Given the description of an element on the screen output the (x, y) to click on. 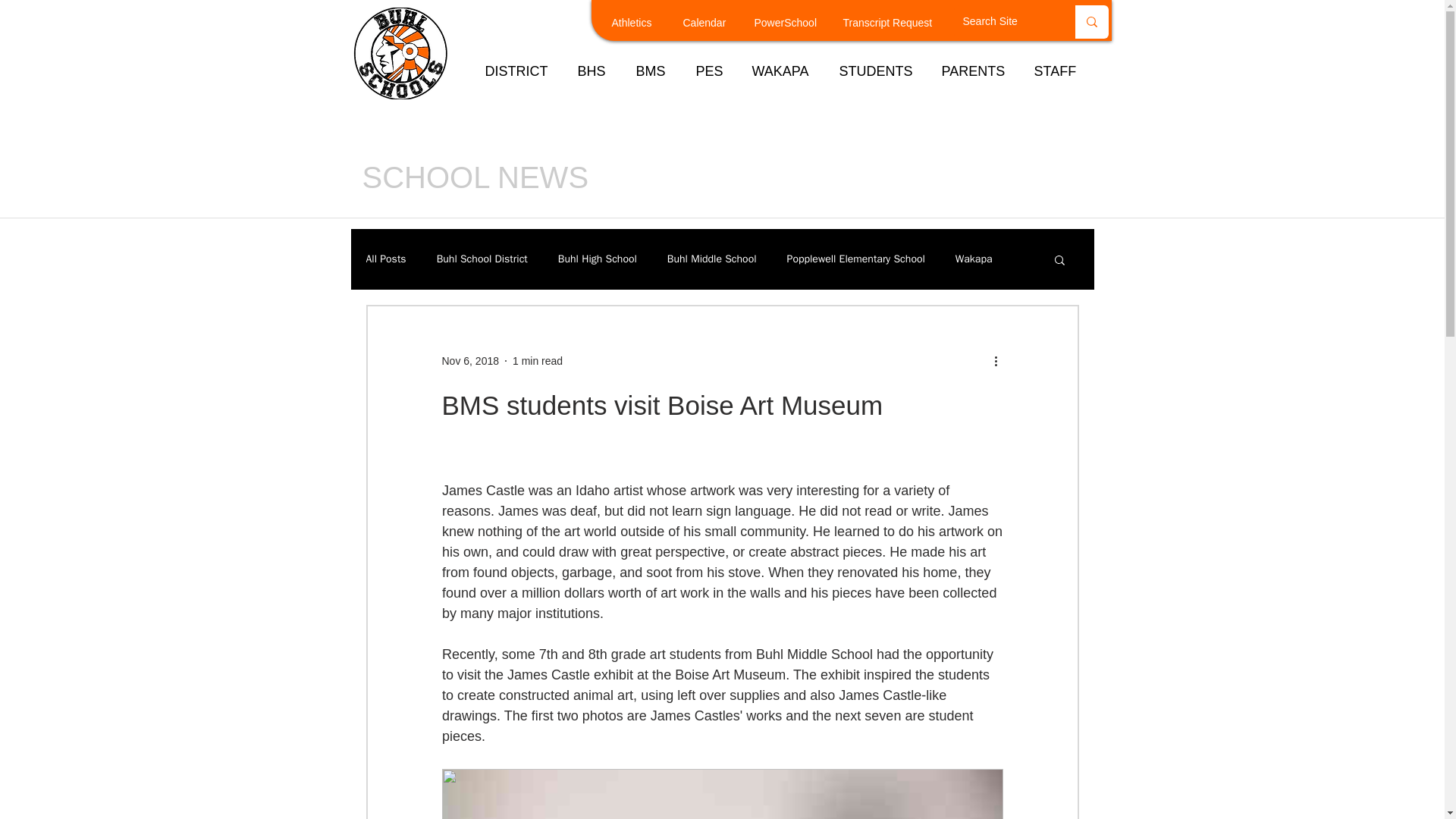
PowerSchool (794, 23)
Calendar (715, 23)
1 min read (537, 360)
Nov 6, 2018 (470, 360)
DISTRICT (518, 71)
Transcript Request (898, 23)
Athletics (644, 23)
BHS (594, 71)
